Given the description of an element on the screen output the (x, y) to click on. 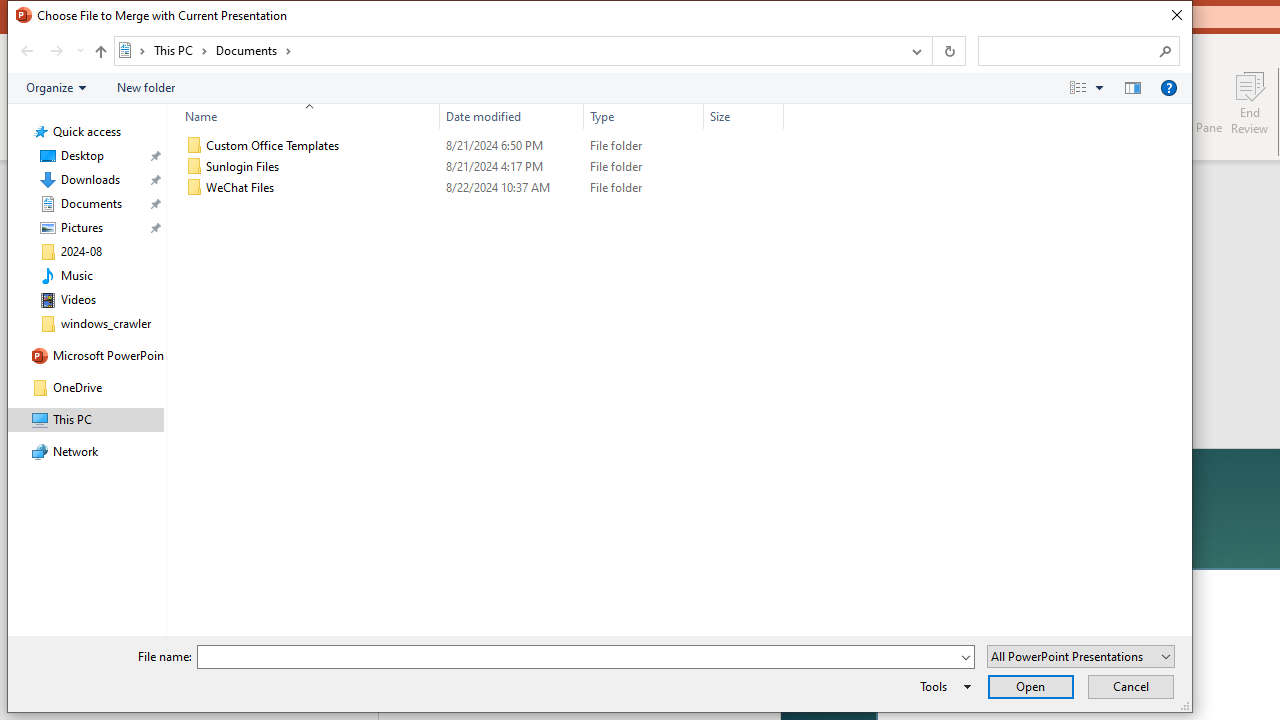
New folder (145, 87)
File name: (577, 657)
Refresh "Documents" (F5) (948, 51)
Recent locations (79, 51)
All locations (132, 50)
Class: UIImage (194, 187)
Address: Documents (506, 51)
View Slider (1099, 87)
Up to "This PC" (Alt + Up Arrow) (100, 52)
Organize (56, 87)
WeChat Files (480, 187)
Filter dropdown (775, 115)
&Help (1168, 87)
